Given the description of an element on the screen output the (x, y) to click on. 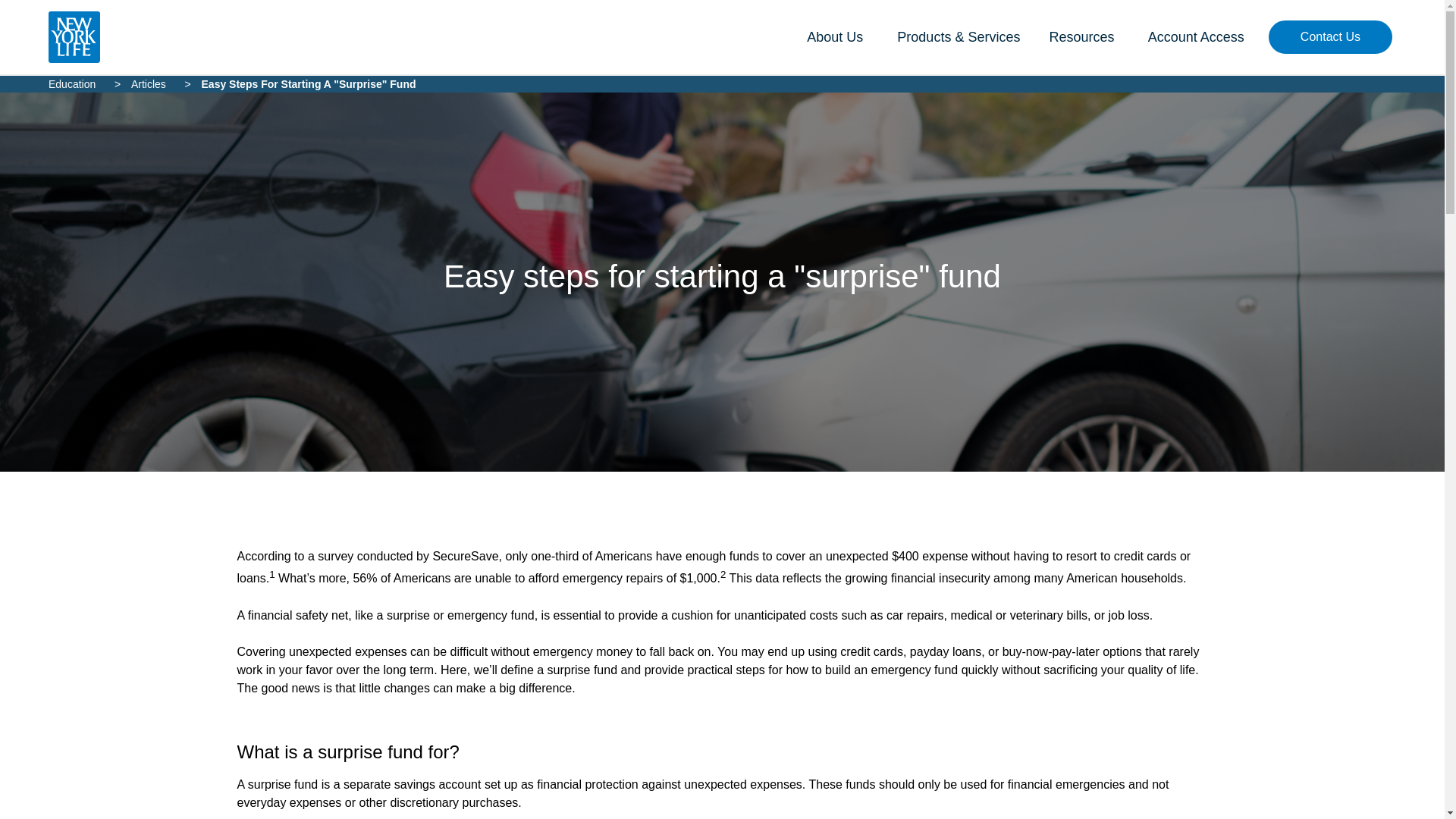
Articles (148, 83)
Contact Us (1329, 37)
Resources (1078, 36)
About Us (832, 36)
Account Access (1190, 36)
